Given the description of an element on the screen output the (x, y) to click on. 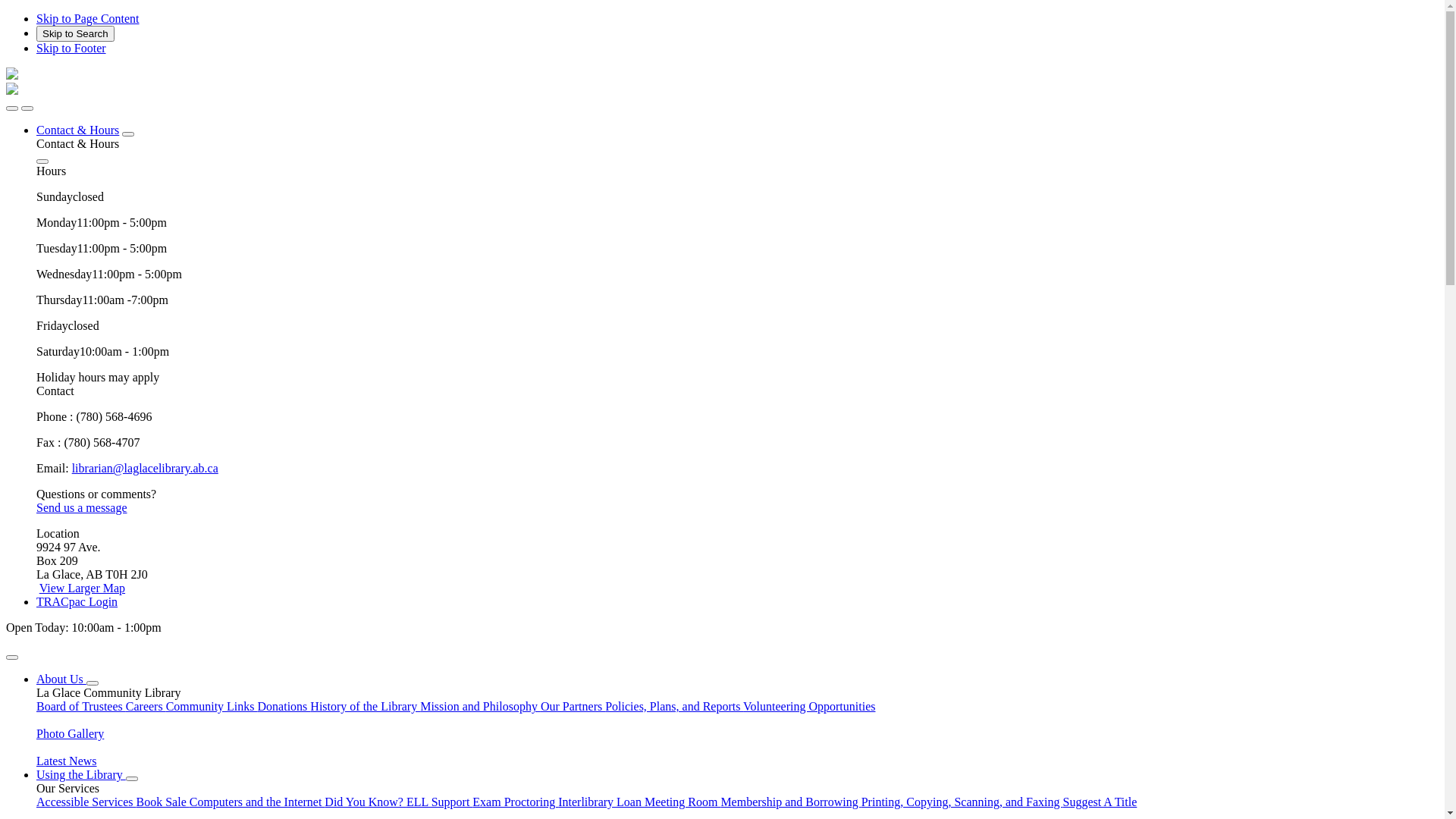
Skip to Search Element type: text (75, 33)
Our Partners Element type: text (572, 705)
About Us Element type: text (61, 678)
Meeting Room Element type: text (682, 801)
Volunteering Opportunities Element type: text (809, 705)
Photo Gallery Element type: text (737, 726)
View Larger Map Element type: text (82, 587)
TRACpac Login Element type: text (76, 601)
History of the Library Element type: text (365, 705)
Policies, Plans, and Reports Element type: text (674, 705)
Board of Trustees Element type: text (80, 705)
ELL Support Element type: text (439, 801)
Mission and Philosophy Element type: text (480, 705)
Did You Know? Element type: text (365, 801)
Send us a message Element type: text (81, 507)
librarian@laglacelibrary.ab.ca Element type: text (145, 467)
Book Sale Element type: text (162, 801)
Community Links Element type: text (211, 705)
Membership and Borrowing Element type: text (790, 801)
Accessible Services Element type: text (86, 801)
Contact & Hours Element type: text (77, 129)
Skip to Footer Element type: text (71, 47)
Donations Element type: text (283, 705)
Careers Element type: text (145, 705)
Computers and the Internet Element type: text (257, 801)
La Glace Community Library Element type: hover (12, 90)
Latest News Element type: text (737, 754)
Interlibrary Loan Element type: text (601, 801)
Exam Proctoring Element type: text (515, 801)
Skip to Page Content Element type: text (87, 18)
Using the Library Element type: text (80, 774)
Suggest A Title Element type: text (1099, 801)
Printing, Copying, Scanning, and Faxing Element type: text (962, 801)
